Given the description of an element on the screen output the (x, y) to click on. 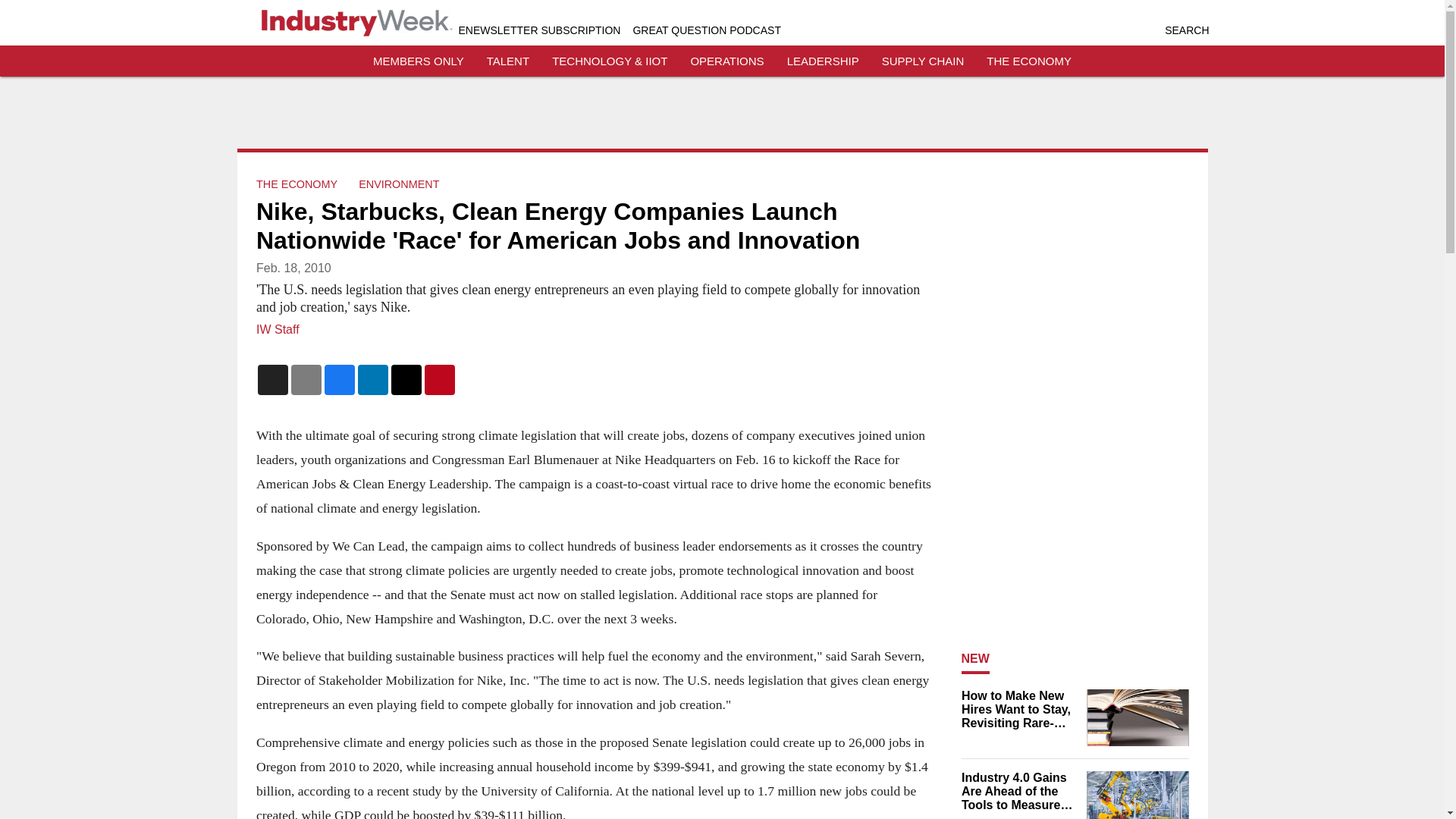
TALENT (507, 60)
LEADERSHIP (823, 60)
SUPPLY CHAIN (922, 60)
IW Staff (277, 328)
THE ECONOMY (1029, 60)
ENEWSLETTER SUBSCRIPTION (539, 30)
THE ECONOMY (296, 184)
SEARCH (1186, 30)
GREAT QUESTION PODCAST (705, 30)
